Given the description of an element on the screen output the (x, y) to click on. 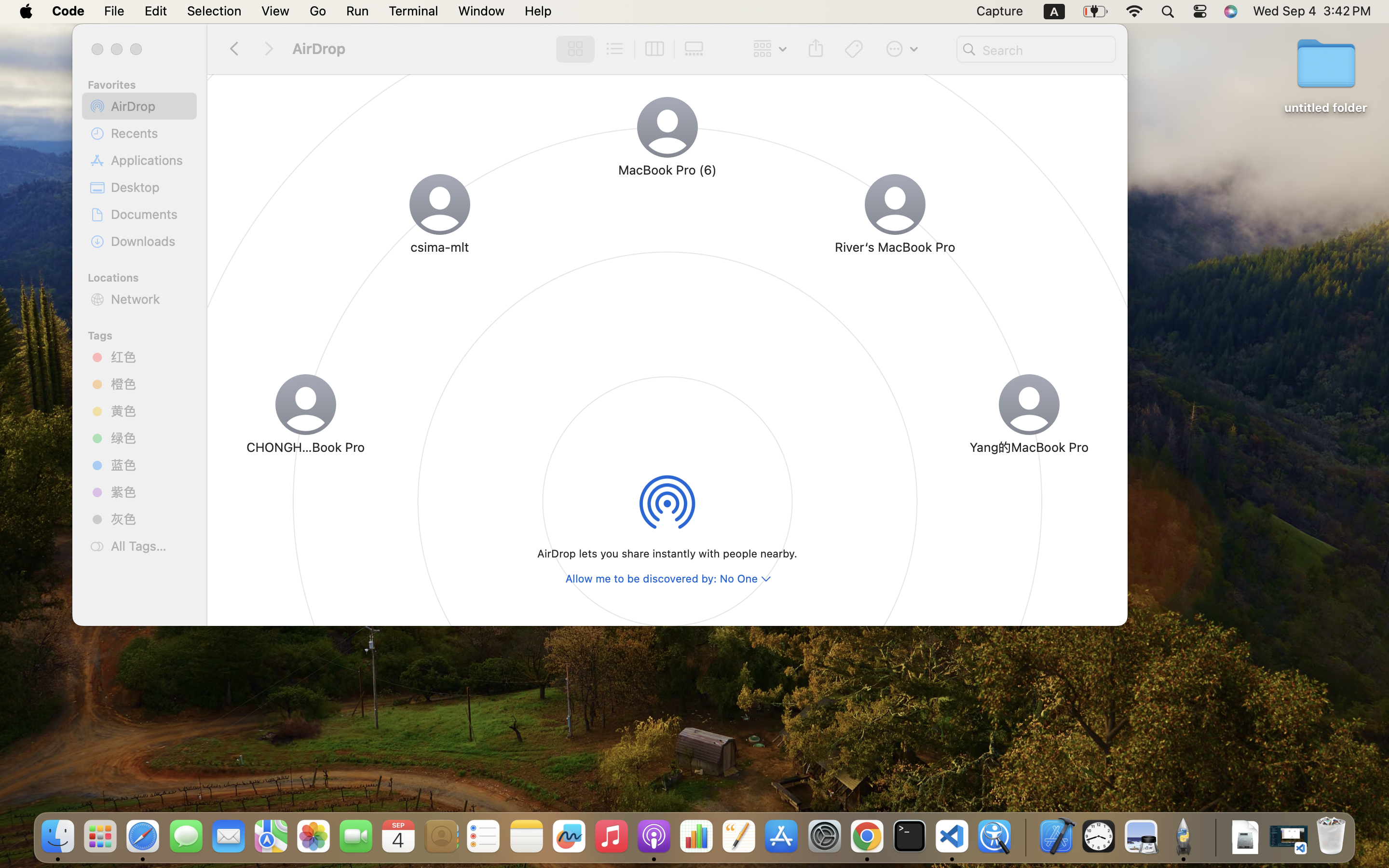
Desktop Element type: AXStaticText (149, 186)
灰色 Element type: AXStaticText (149, 518)
Recents Element type: AXStaticText (149, 132)
All Tags… Element type: AXStaticText (149, 545)
AirDrop Element type: AXStaticText (149, 105)
